Given the description of an element on the screen output the (x, y) to click on. 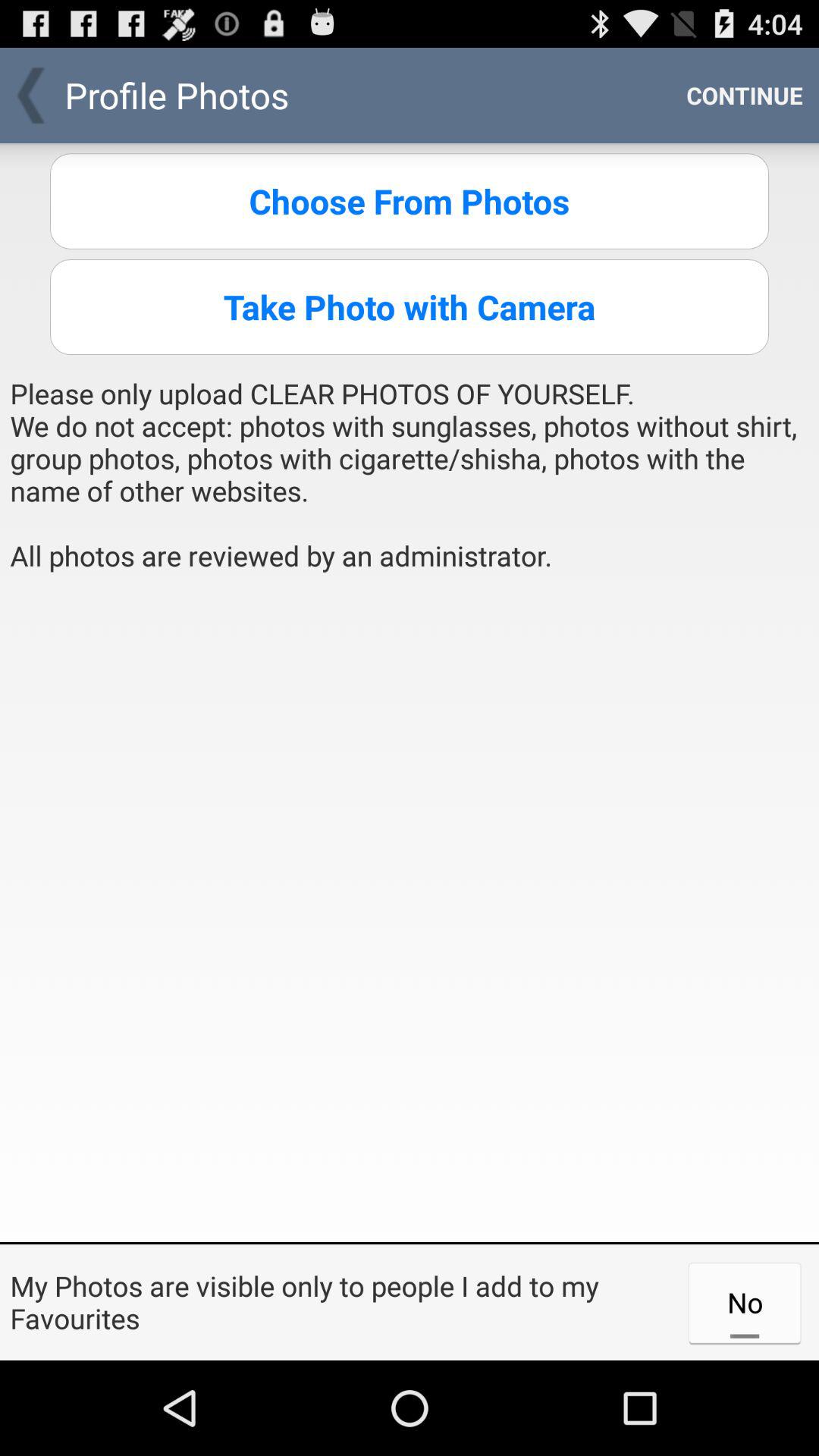
scroll to the take photo with button (409, 306)
